Given the description of an element on the screen output the (x, y) to click on. 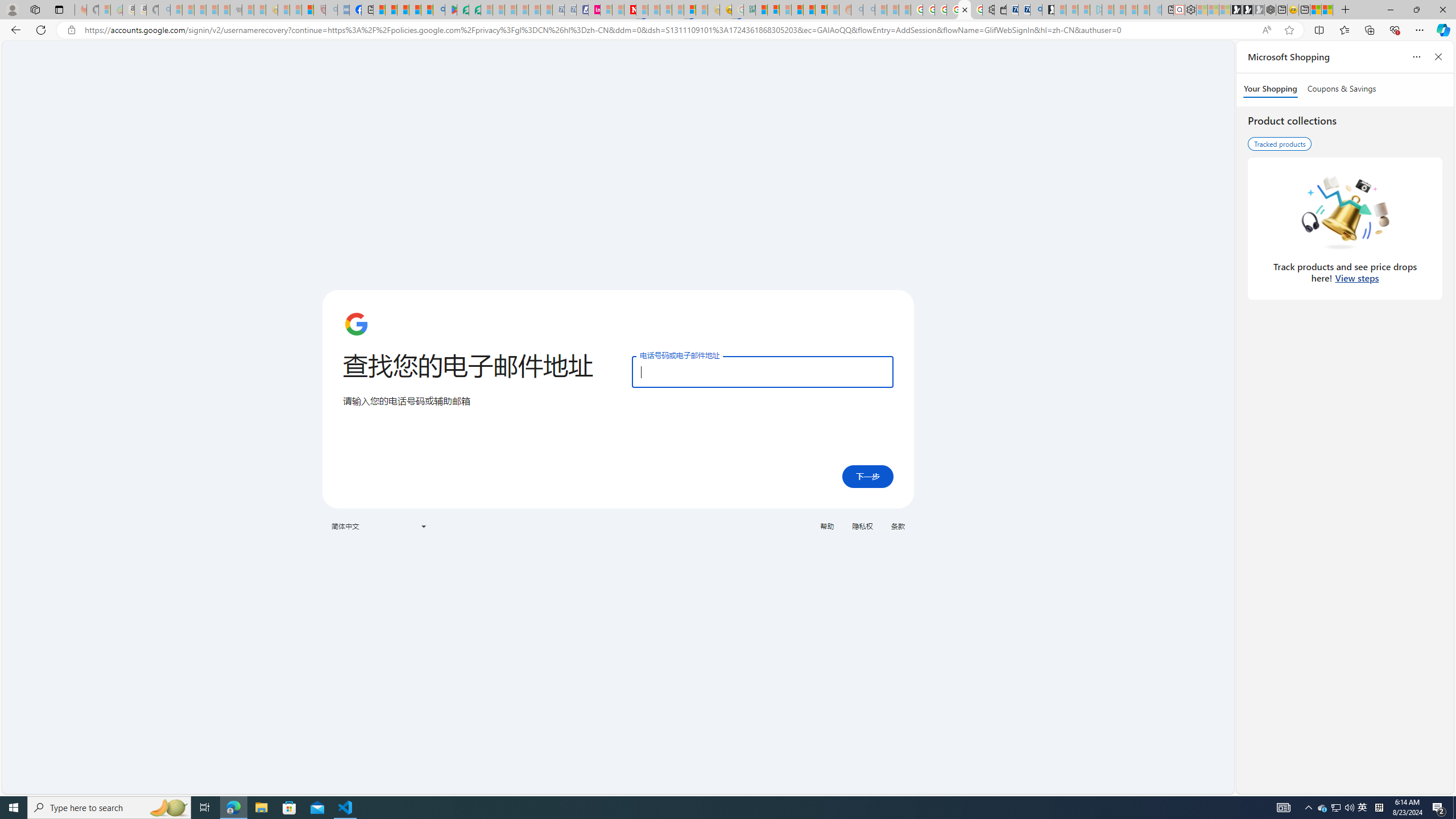
Jobs - lastminute.com Investor Portal (594, 9)
Terms of Use Agreement (462, 9)
